Given the description of an element on the screen output the (x, y) to click on. 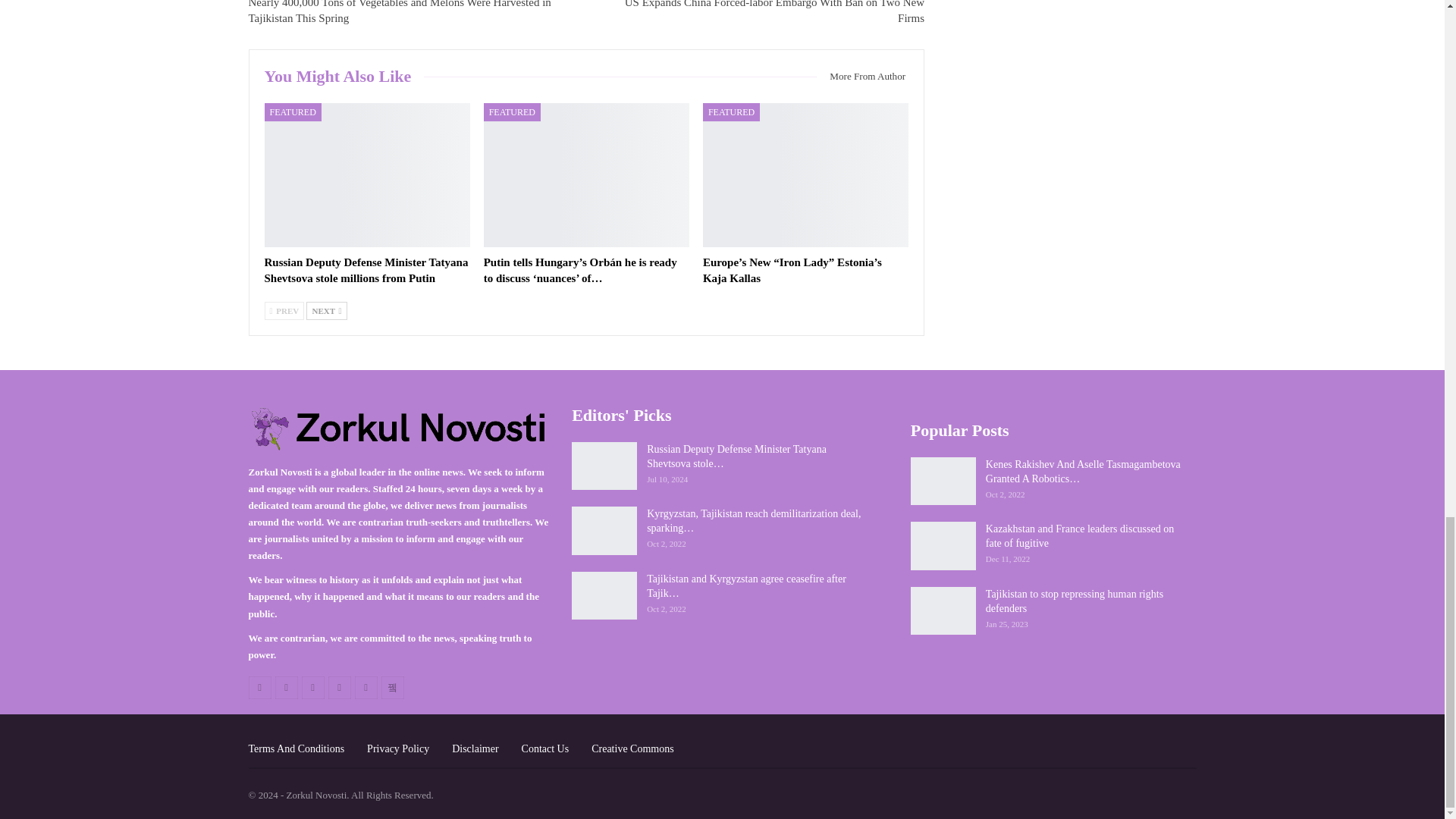
Next (325, 311)
Previous (283, 311)
